Given the description of an element on the screen output the (x, y) to click on. 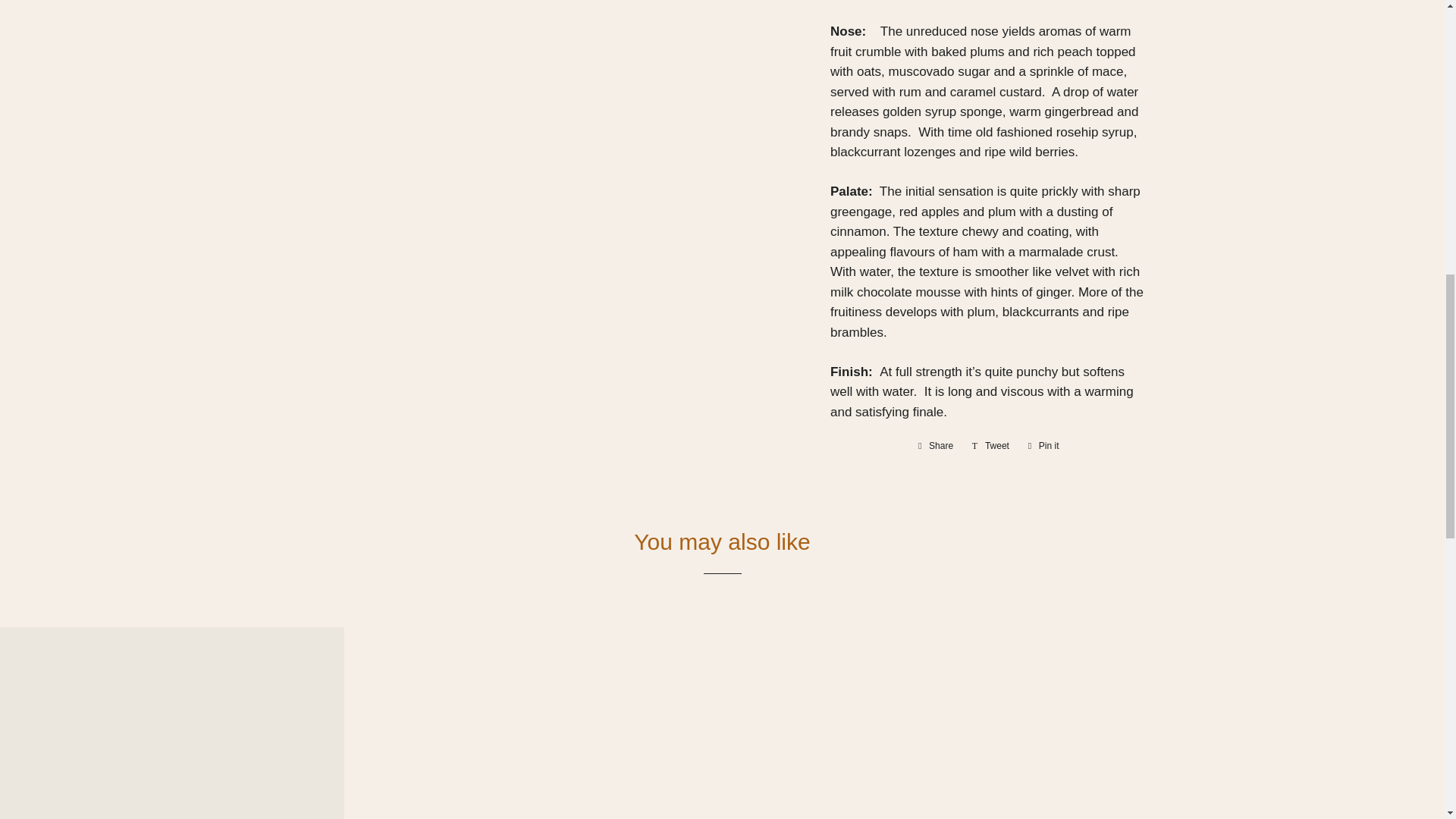
Share on Facebook (935, 445)
Tweet on Twitter (989, 445)
Pin on Pinterest (1043, 445)
